Given the description of an element on the screen output the (x, y) to click on. 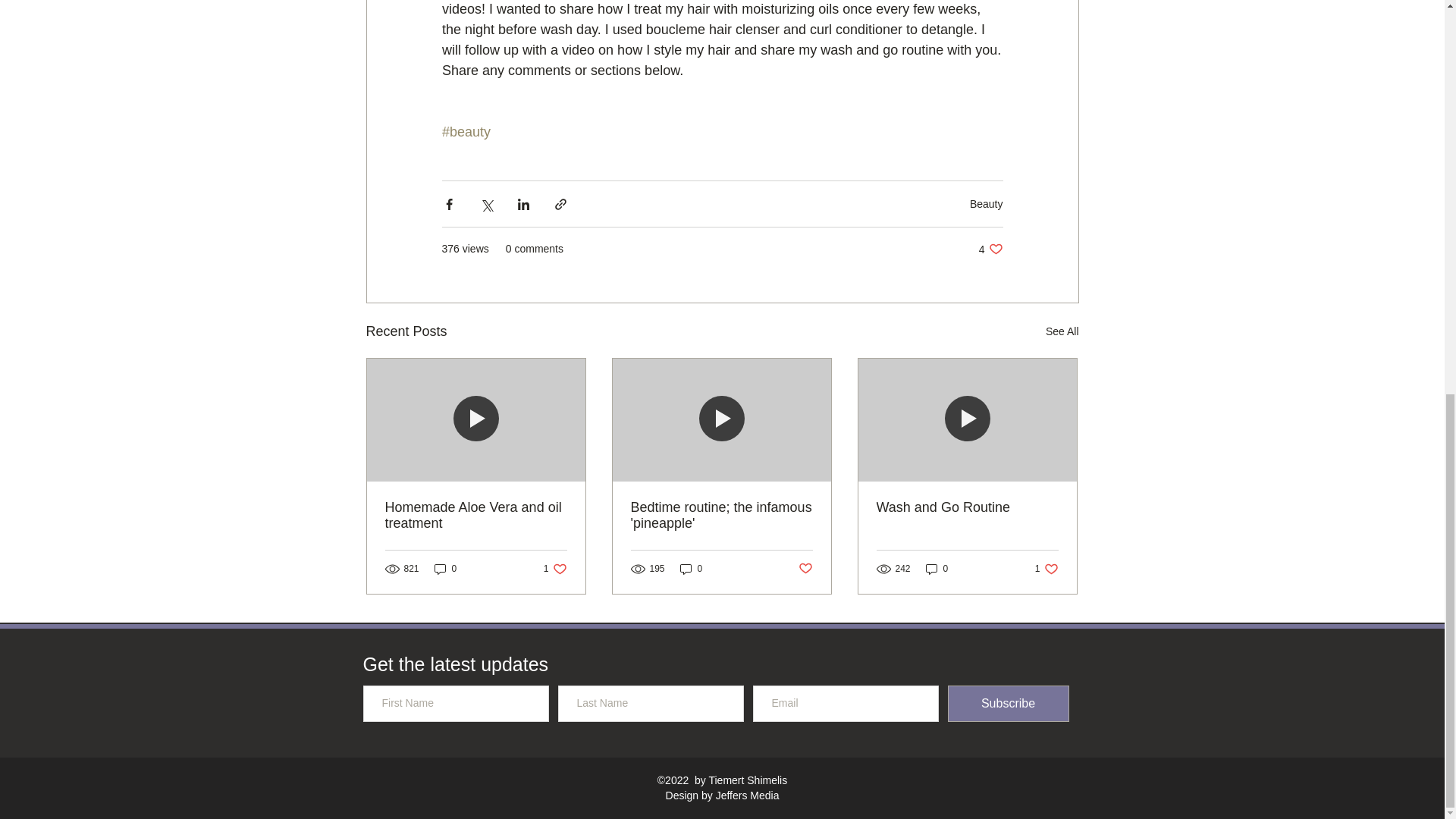
See All (990, 248)
Bedtime routine; the infamous 'pineapple' (1061, 332)
Beauty (721, 515)
Post not marked as liked (555, 568)
0 (986, 203)
0 (804, 569)
Homemade Aloe Vera and oil treatment (691, 568)
